Given the description of an element on the screen output the (x, y) to click on. 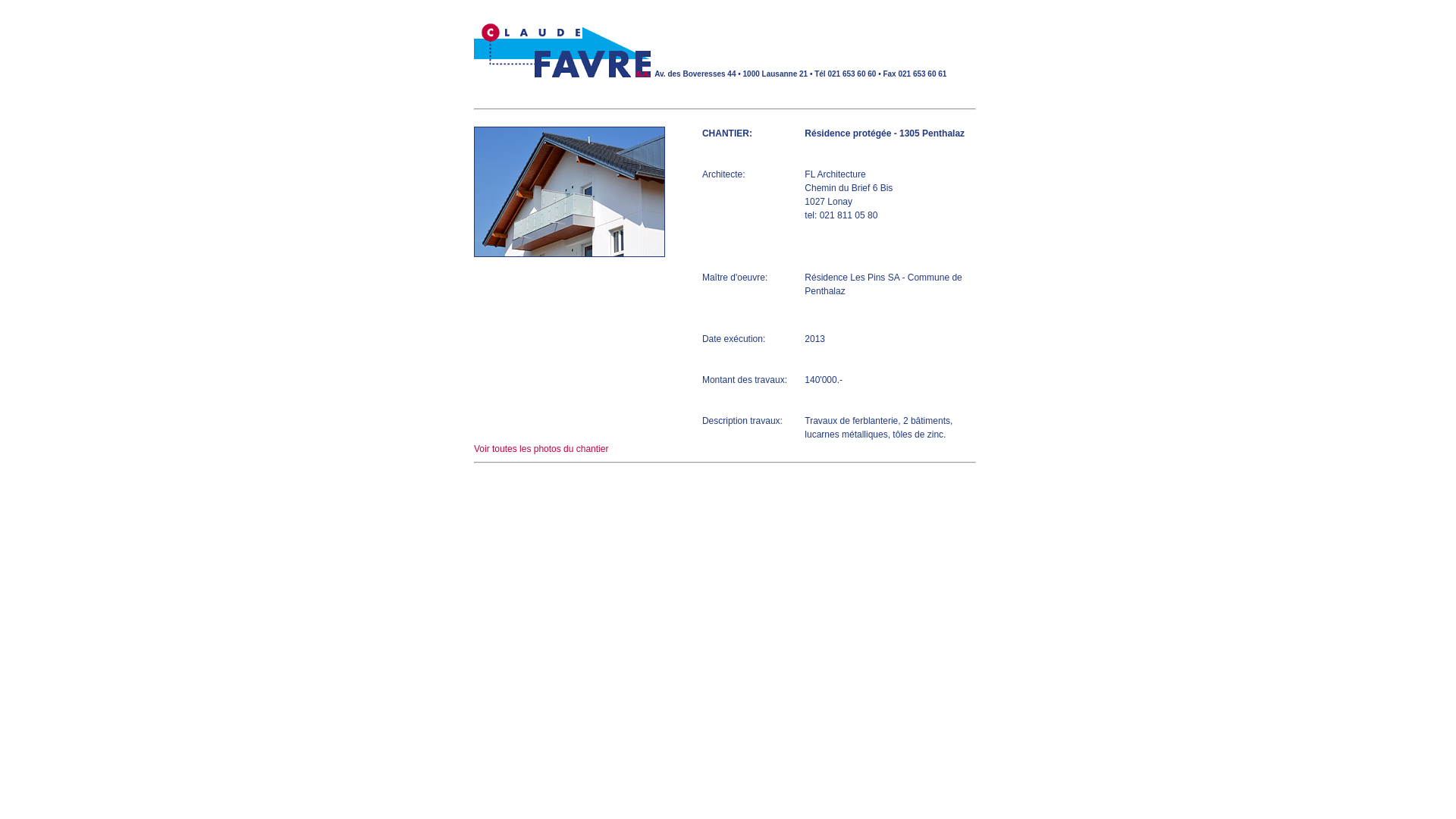
Voir toutes les photos du chantier Element type: text (540, 448)
